Given the description of an element on the screen output the (x, y) to click on. 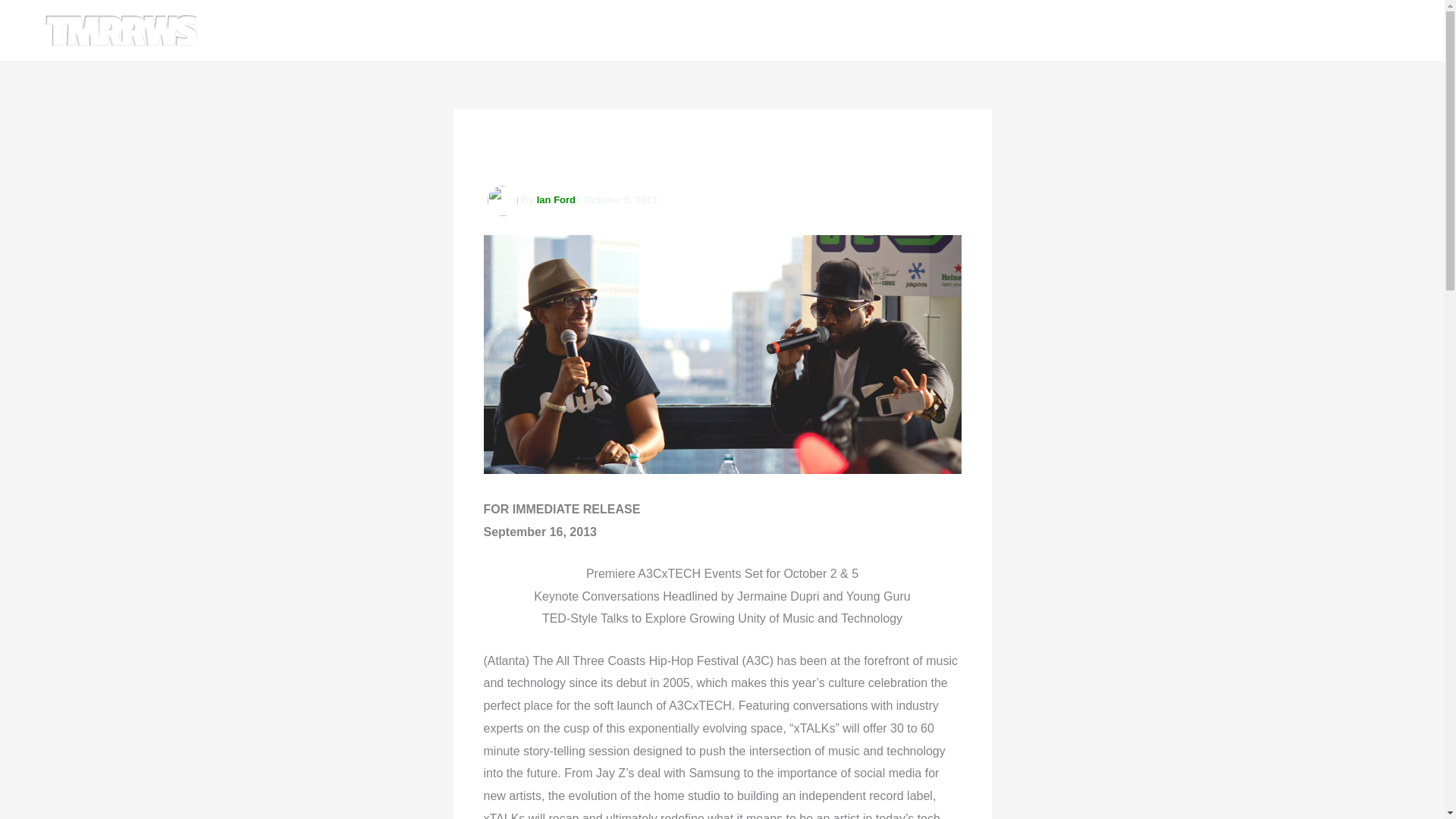
Ian Ford (557, 199)
About. (1225, 30)
View all posts by Ian Ford (557, 199)
Contact. (1364, 30)
Services. (1292, 30)
Hello. (1167, 30)
